Given the description of an element on the screen output the (x, y) to click on. 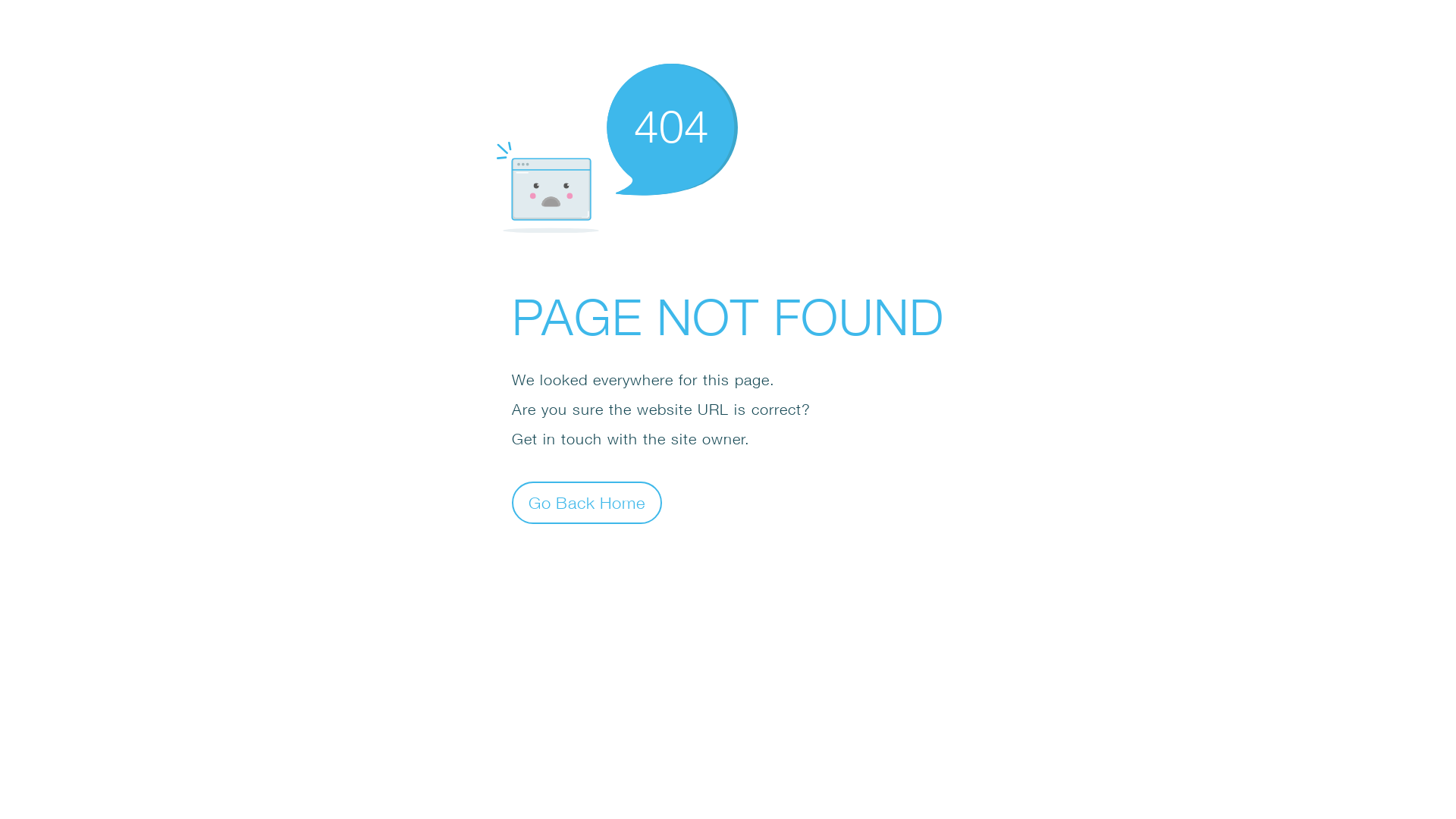
Go Back Home Element type: text (586, 502)
